Given the description of an element on the screen output the (x, y) to click on. 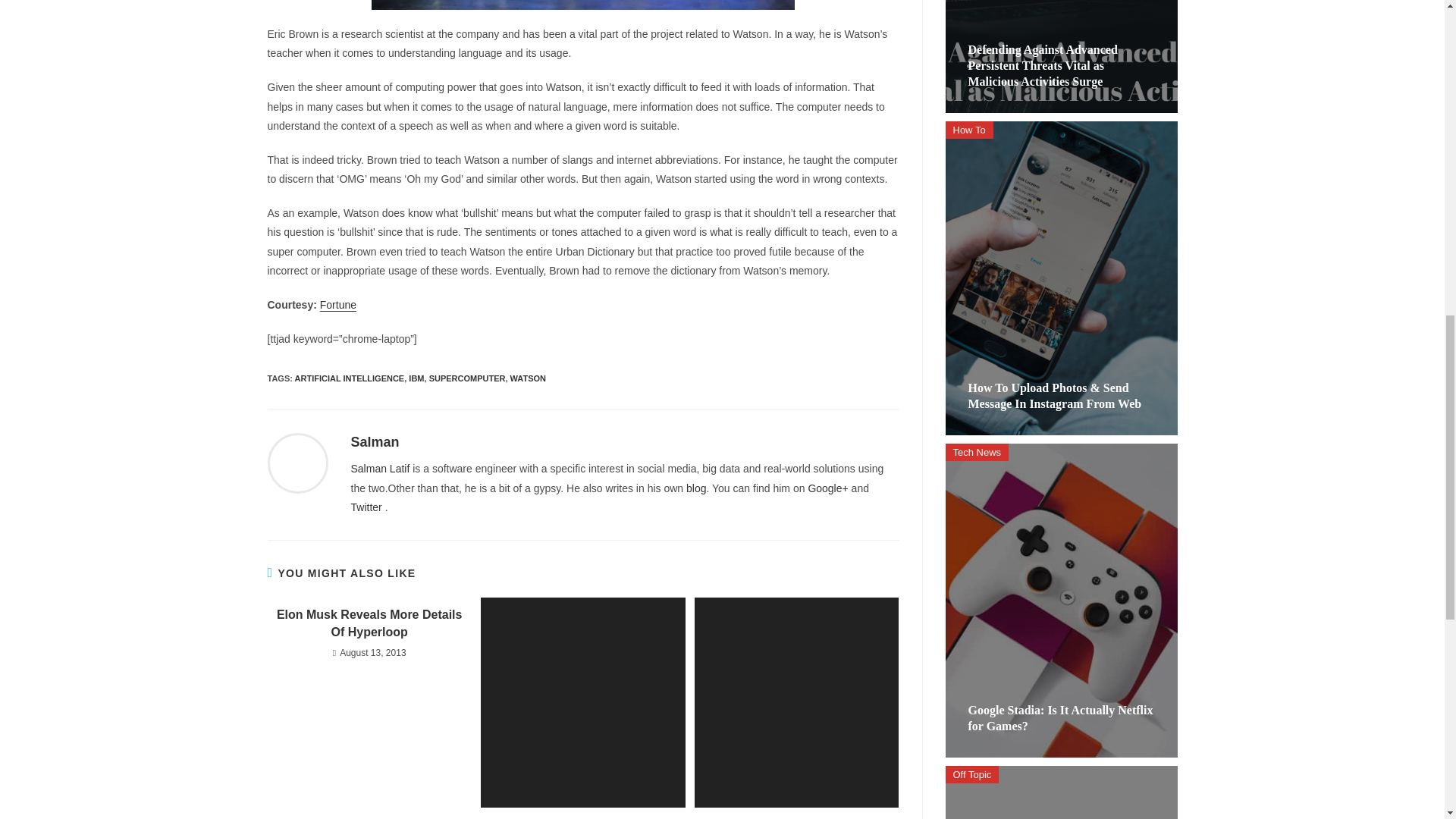
Visit author page (374, 441)
IBM (416, 378)
Fortune (338, 304)
Tech News (976, 452)
Off Topic (971, 773)
Visit author page (296, 462)
ARTIFICIAL INTELLIGENCE (349, 378)
How To (968, 129)
All Post By Salman Latif in TheTechJournal (379, 468)
Google Stadia: Is It Actually Netflix for Games? (1060, 717)
